Given the description of an element on the screen output the (x, y) to click on. 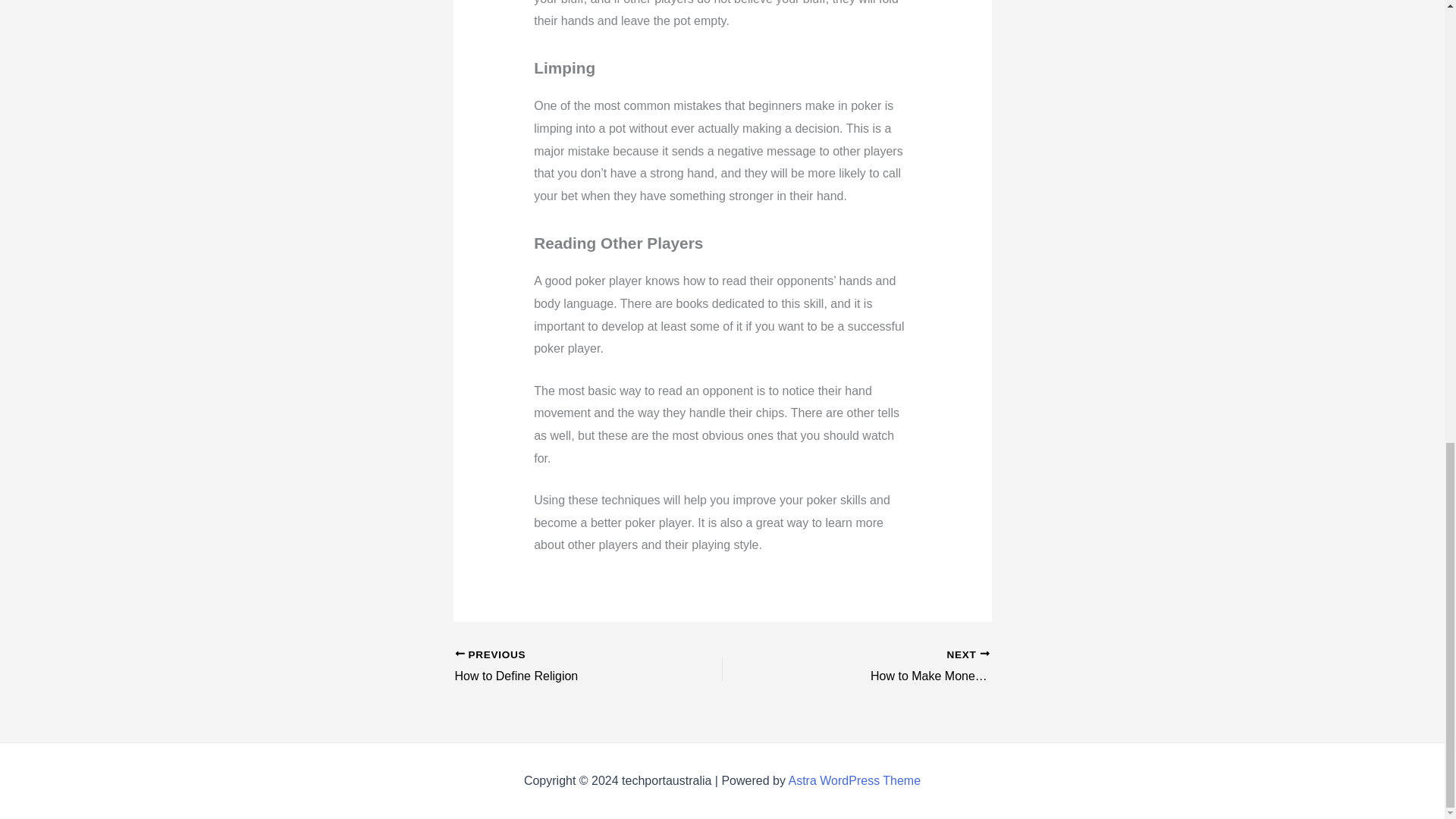
How to Make Money in Sports Betting (923, 667)
Astra WordPress Theme (923, 667)
How to Define Religion (561, 667)
